Given the description of an element on the screen output the (x, y) to click on. 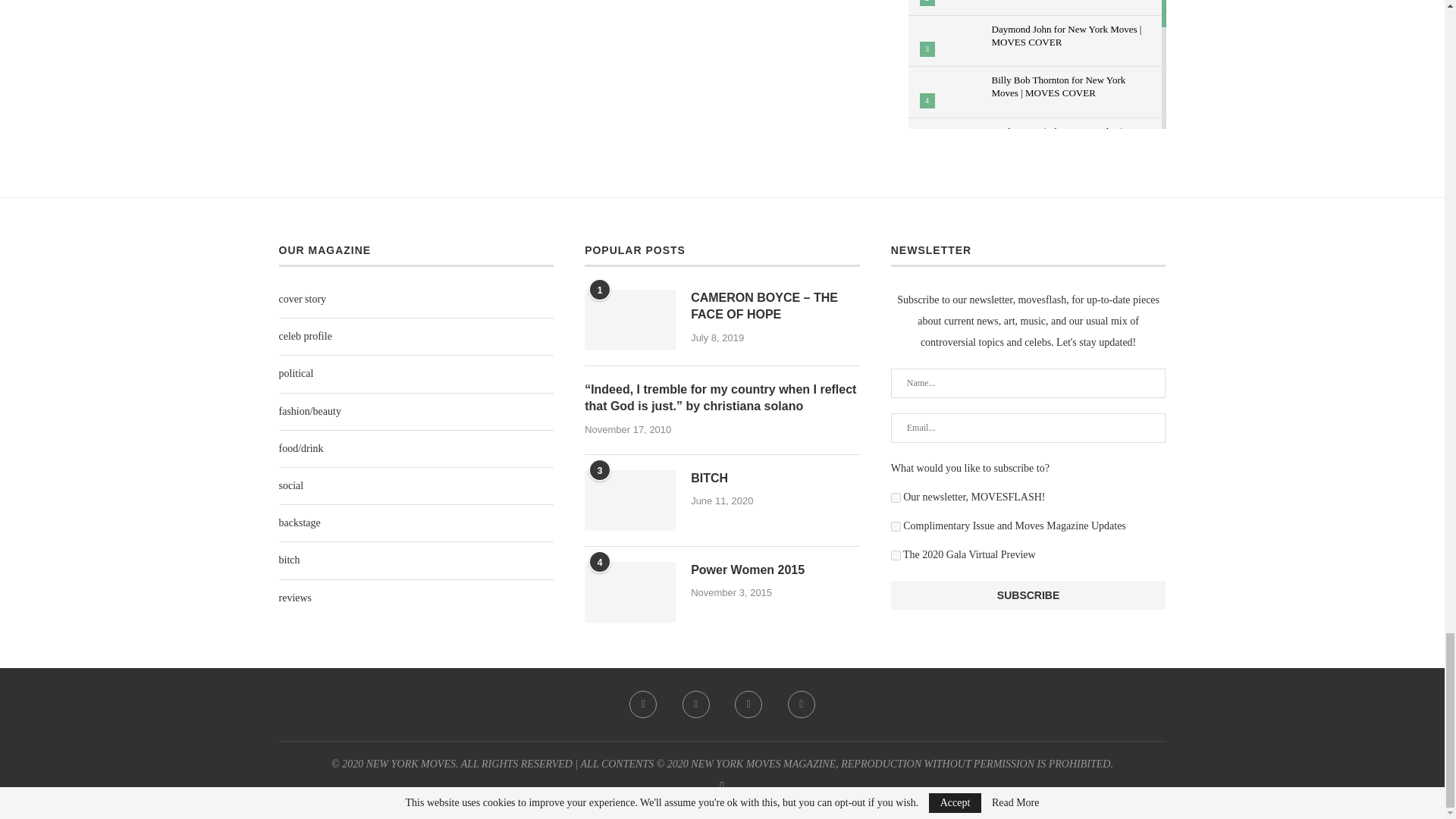
fb5e4d2cbb (896, 555)
Subscribe (1028, 594)
f95fda35ae (896, 526)
746c20e49d (896, 497)
